Given the description of an element on the screen output the (x, y) to click on. 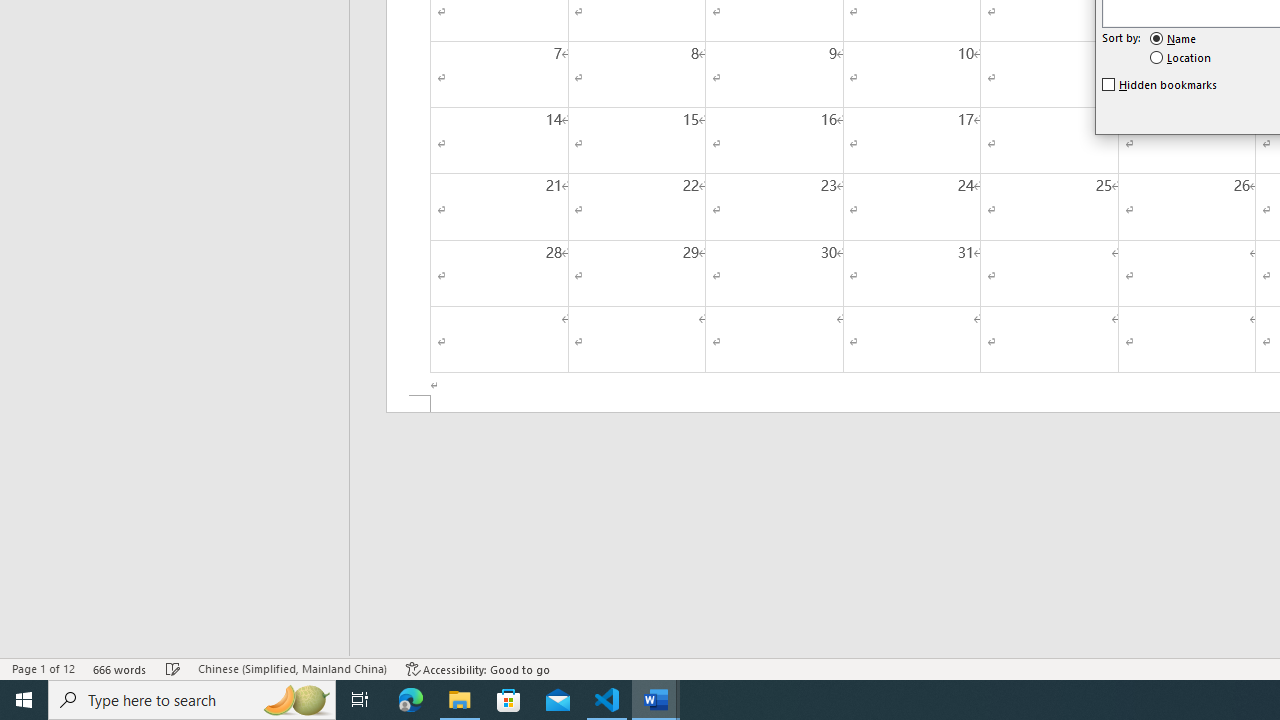
File Explorer - 1 running window (460, 699)
Language Chinese (Simplified, Mainland China) (292, 668)
Accessibility Checker Accessibility: Good to go (478, 668)
